Given the description of an element on the screen output the (x, y) to click on. 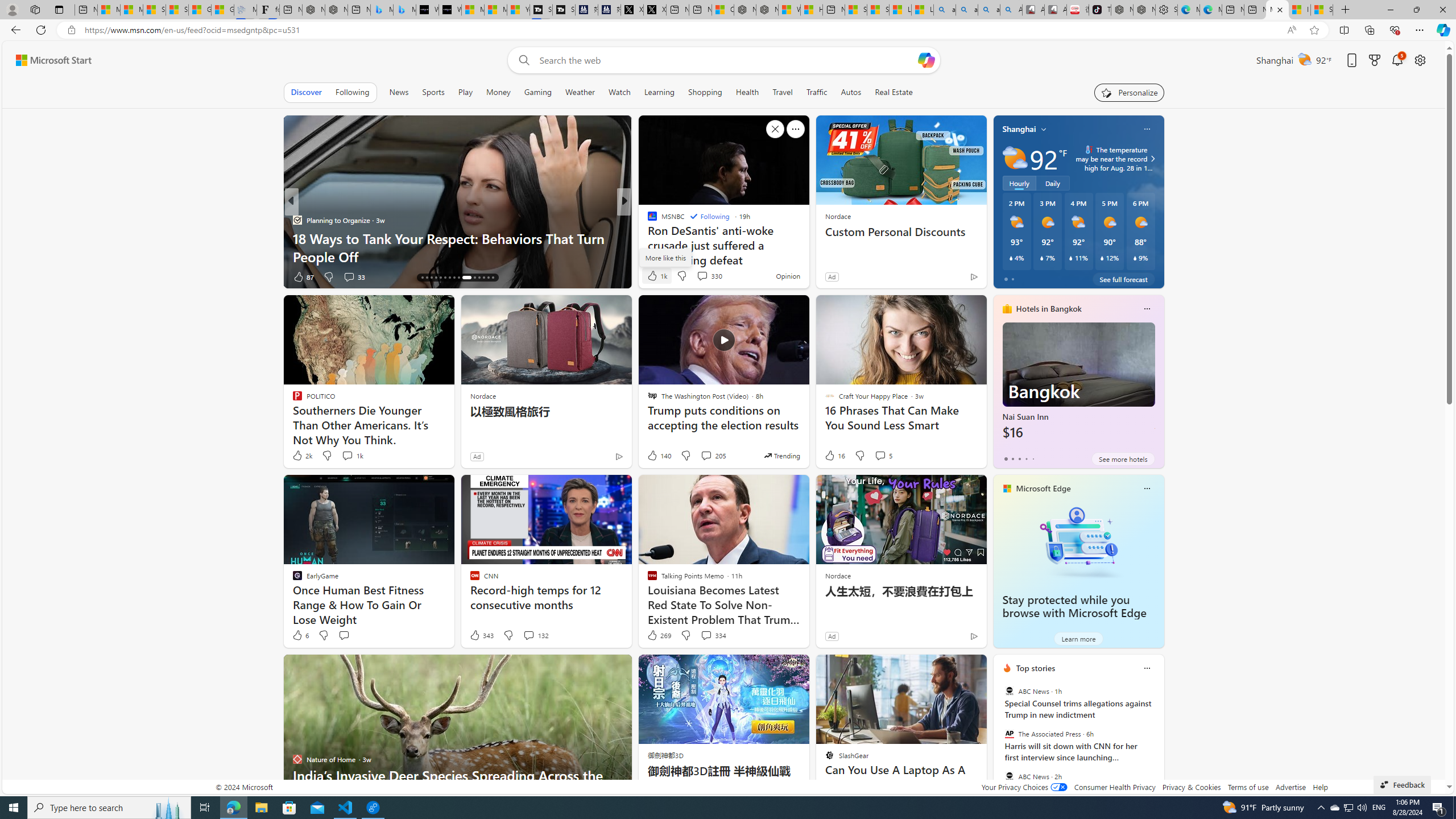
See full forecast (1123, 278)
Help (1320, 786)
I Gained 20 Pounds of Muscle in 30 Days! | Watch (1300, 9)
View comments 33 Comment (349, 276)
Hotels in Bangkok (1048, 308)
Partly sunny (1014, 158)
